Given the description of an element on the screen output the (x, y) to click on. 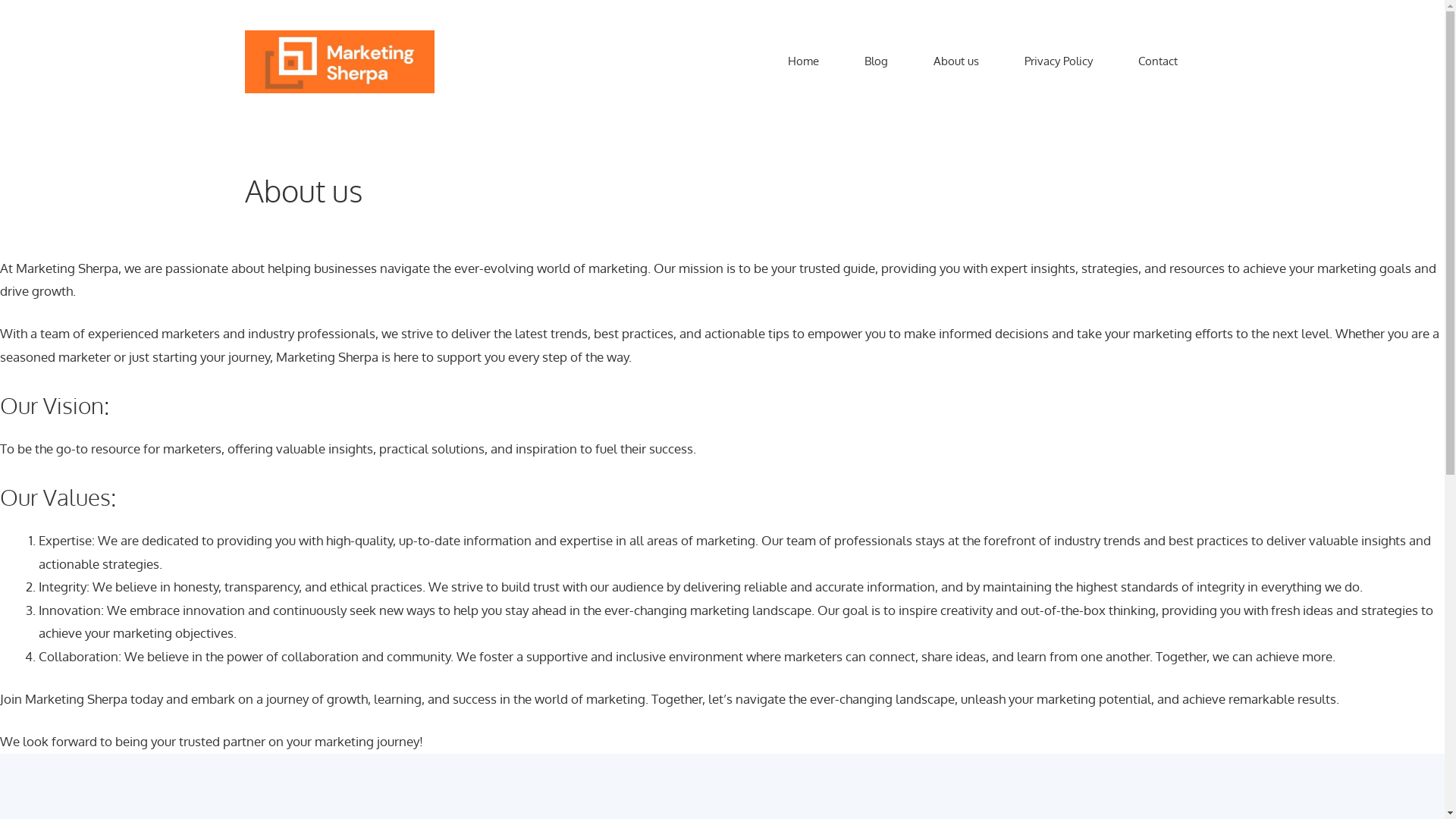
Home Element type: text (802, 61)
About us Element type: text (955, 61)
Blog Element type: text (875, 61)
Privacy Policy Element type: text (1057, 61)
Contact Element type: text (1156, 61)
